Given the description of an element on the screen output the (x, y) to click on. 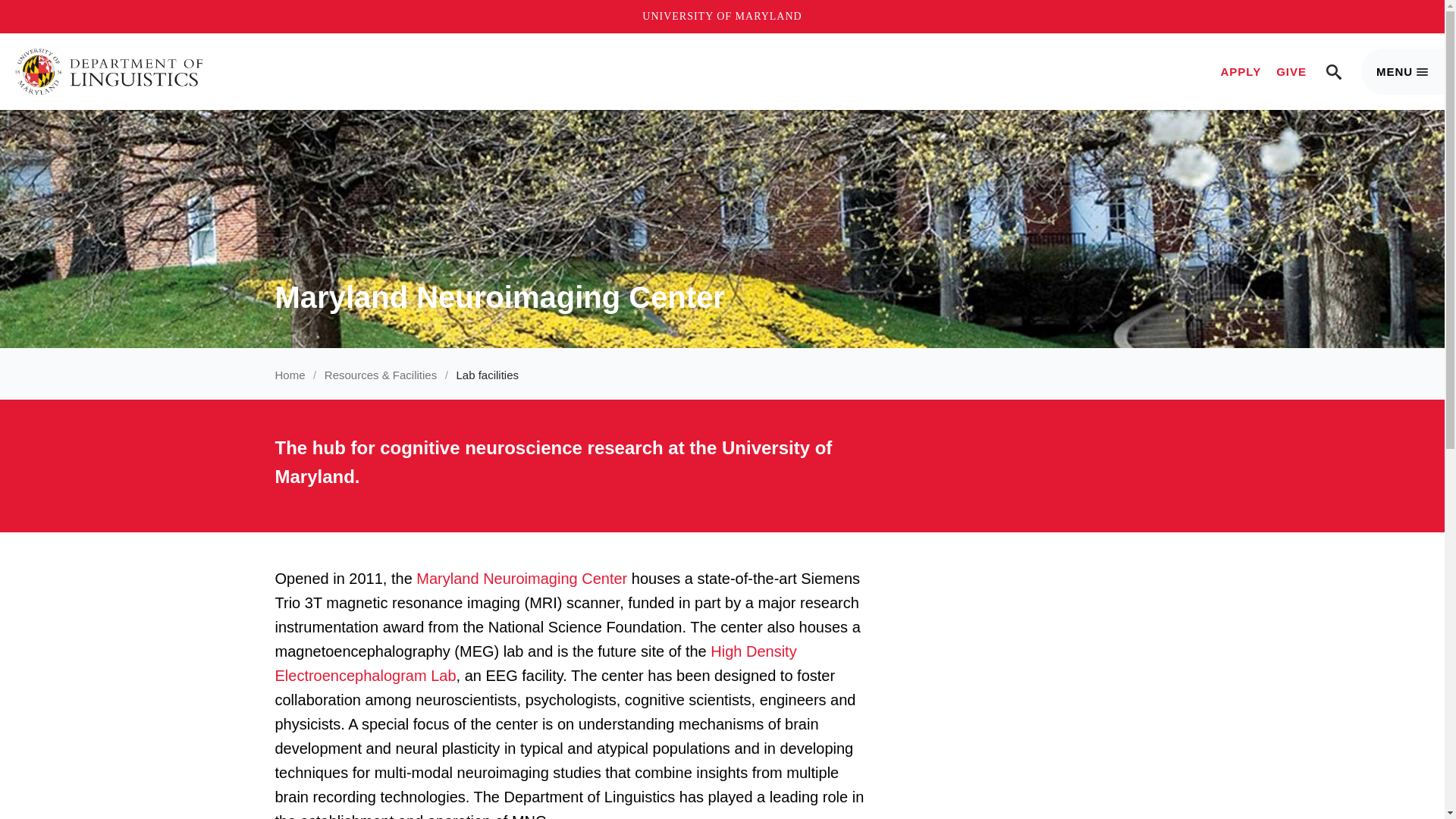
GO (1338, 71)
UNIVERSITY OF MARYLAND (722, 16)
APPLY (1241, 71)
GIVE (1291, 71)
TRIGGER SEARCH (1333, 71)
